Given the description of an element on the screen output the (x, y) to click on. 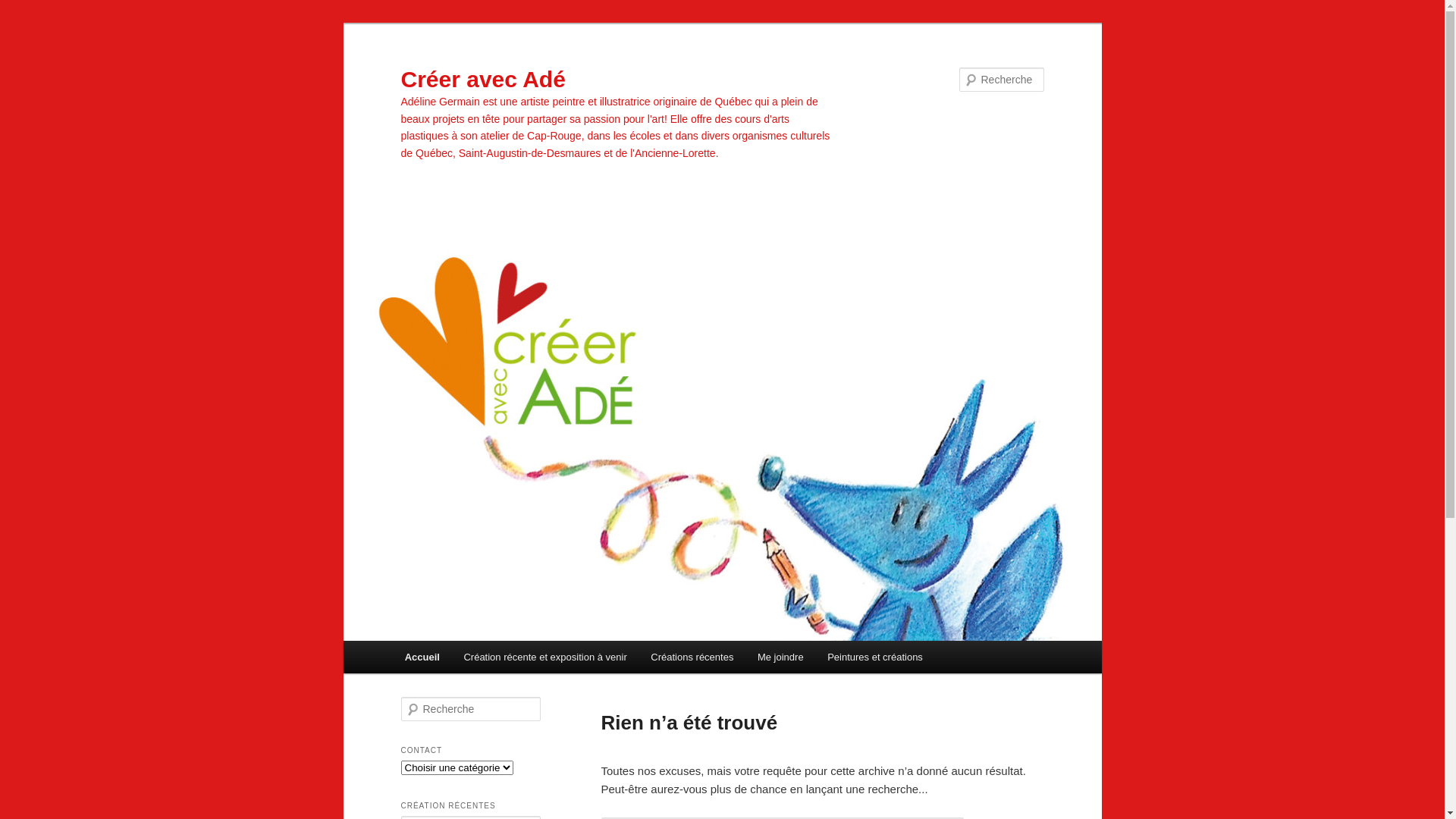
Aller au contenu secondaire Element type: text (484, 659)
Accueil Element type: text (421, 656)
Recherche Element type: text (33, 8)
Me joindre Element type: text (780, 656)
Aller au contenu principal Element type: text (477, 659)
Recherche Element type: text (29, 10)
